Given the description of an element on the screen output the (x, y) to click on. 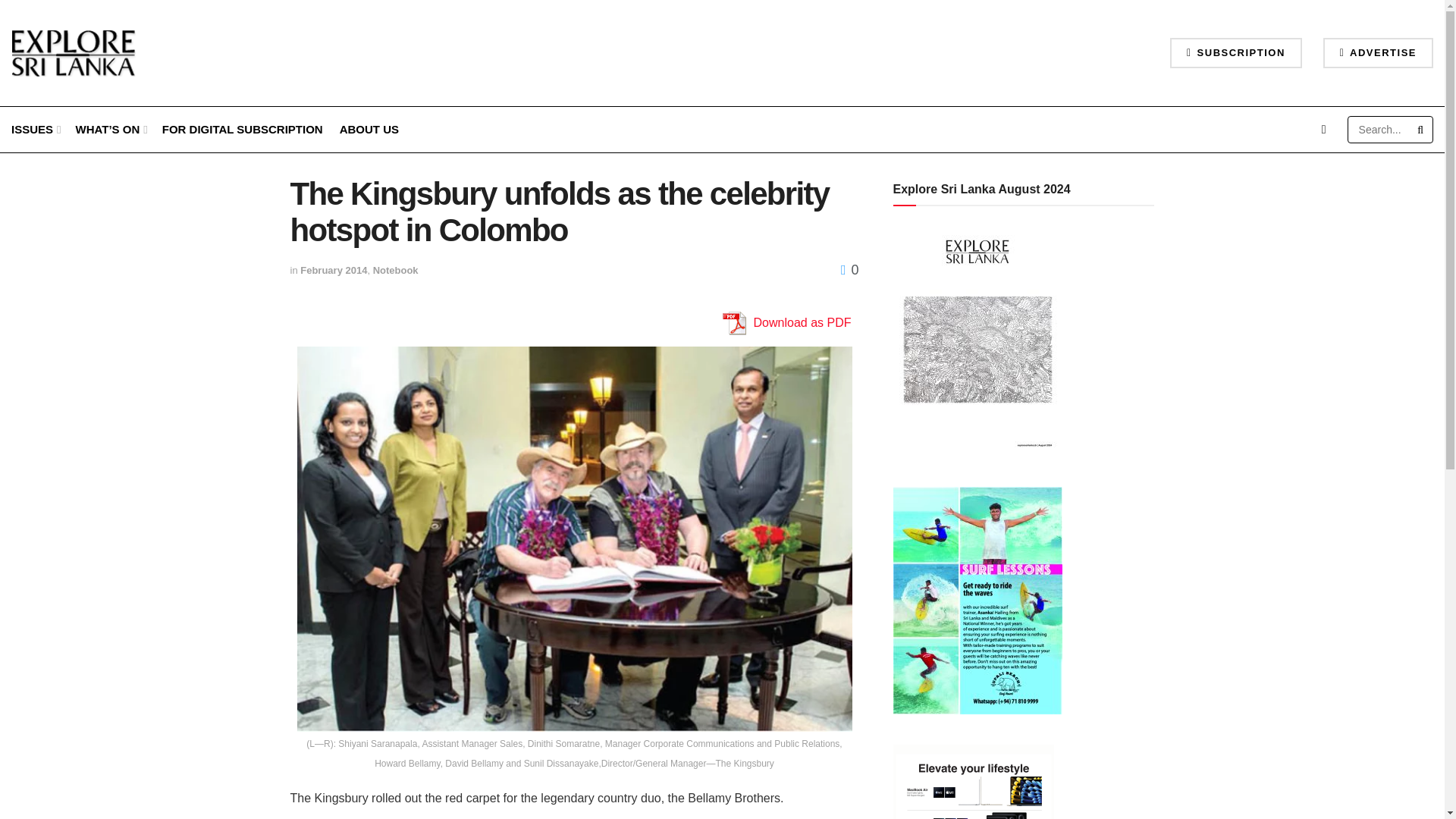
View PDF (733, 323)
ADVERTISE (1377, 52)
SUBSCRIPTION (1235, 52)
ISSUES (35, 129)
